Given the description of an element on the screen output the (x, y) to click on. 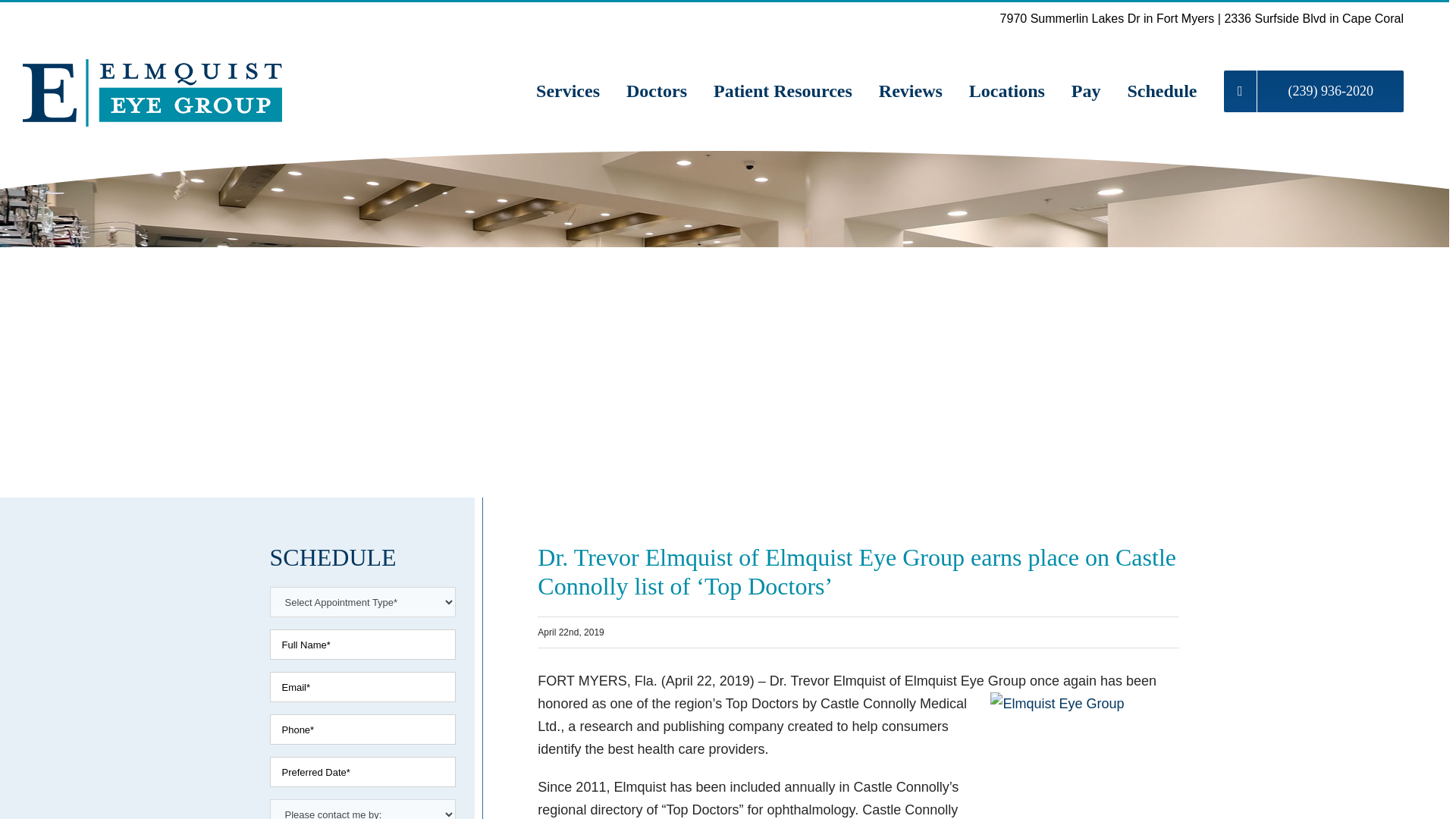
Elmquist Eye Group (1084, 755)
Doctors (656, 90)
Reviews (910, 90)
Pay (1085, 90)
Services (567, 90)
Patient Resources (782, 90)
Locations (1007, 90)
Schedule (1161, 90)
